Given the description of an element on the screen output the (x, y) to click on. 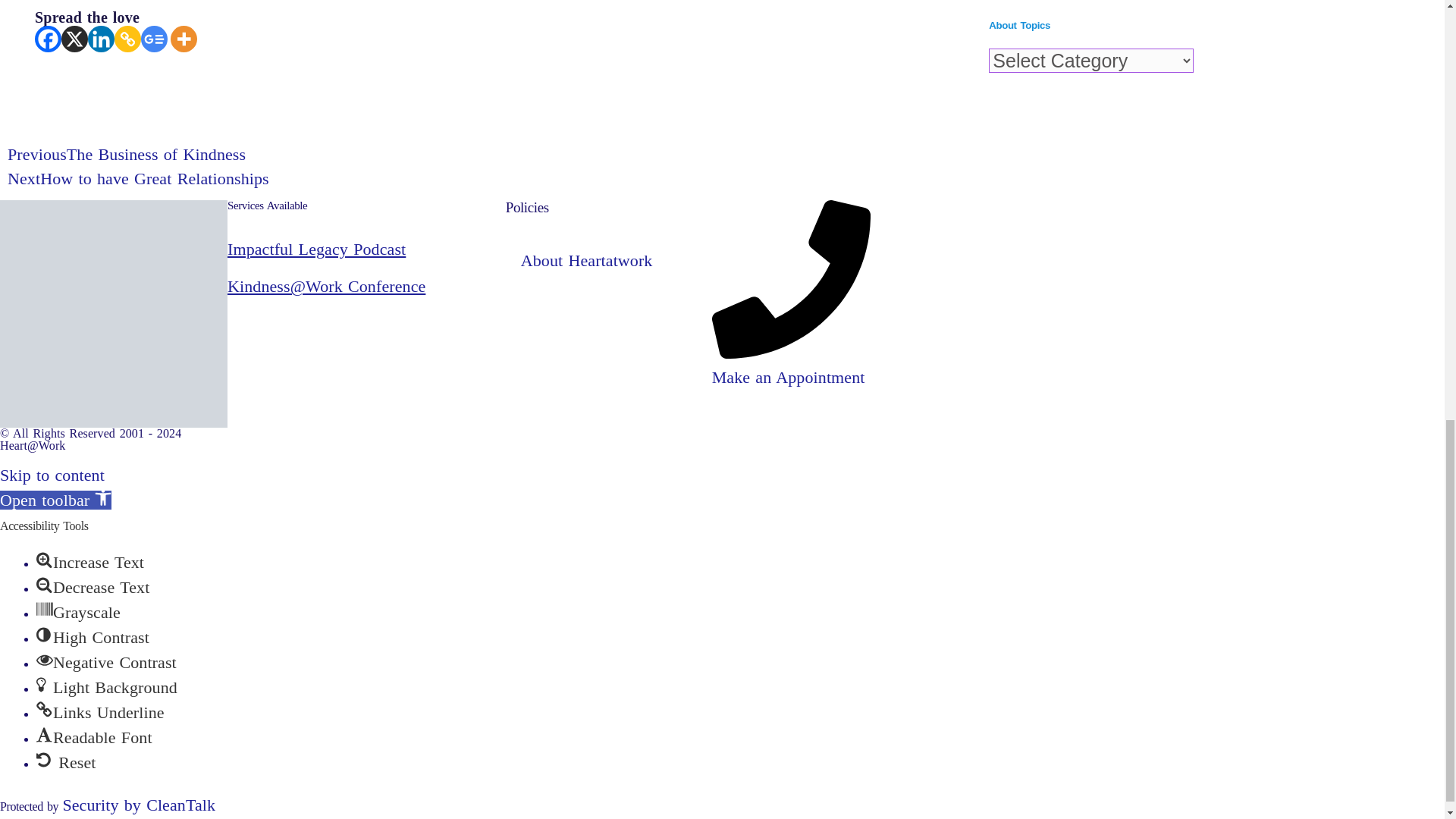
Links Underline (44, 709)
Light Background (44, 684)
Accessibility Tools (103, 497)
High Contrast (44, 634)
Grayscale (44, 609)
Decrease Text (44, 584)
Accessibility Tools (56, 499)
X (74, 38)
Negative Contrast (44, 659)
Facebook (47, 38)
